Given the description of an element on the screen output the (x, y) to click on. 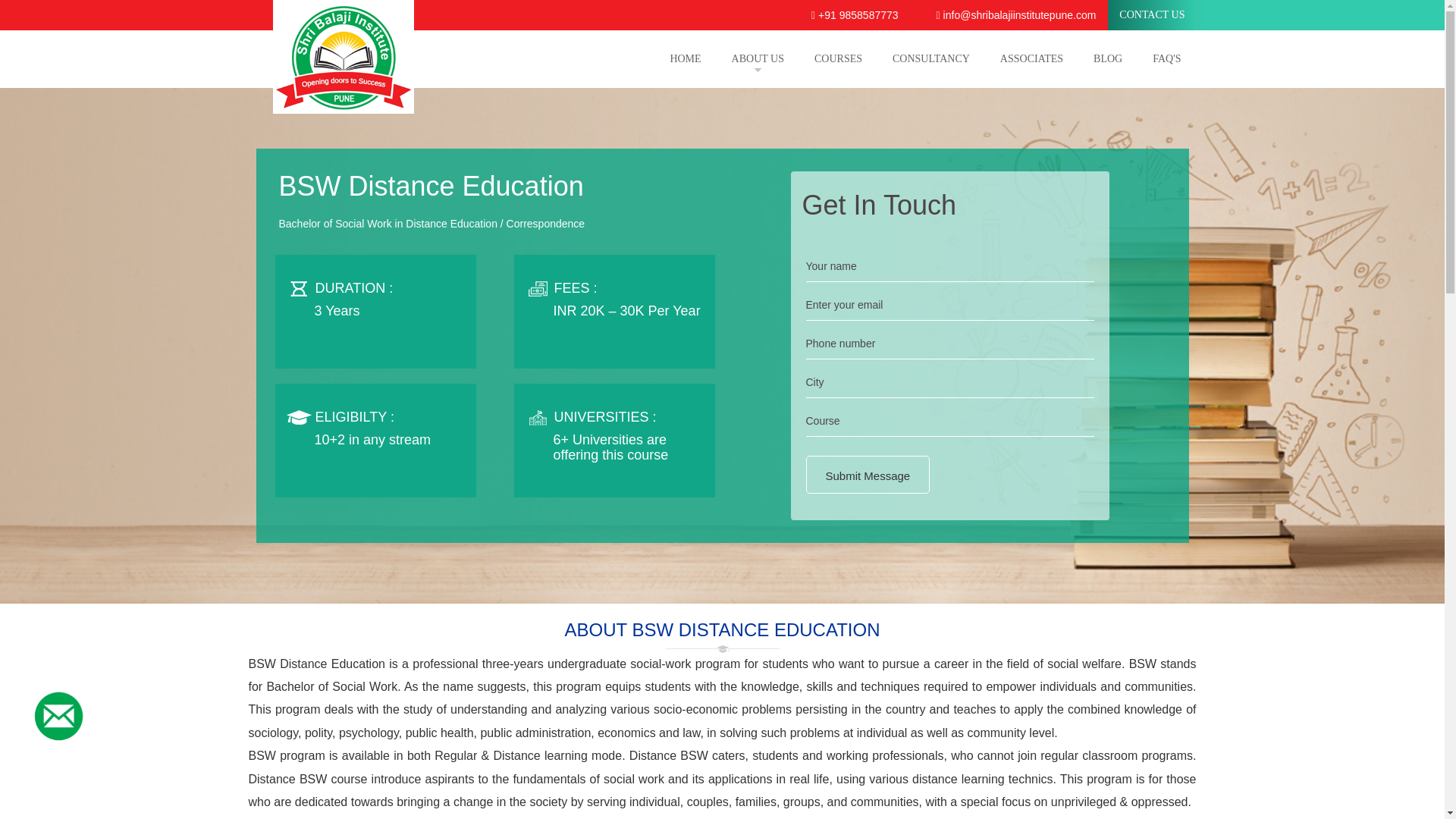
BLOG (1107, 58)
CONSULTANCY (931, 58)
HOME (684, 58)
ABOUT US (757, 58)
COURSES (838, 58)
FAQ'S (1166, 58)
ASSOCIATES (1031, 58)
Submit Message (867, 474)
